Given the description of an element on the screen output the (x, y) to click on. 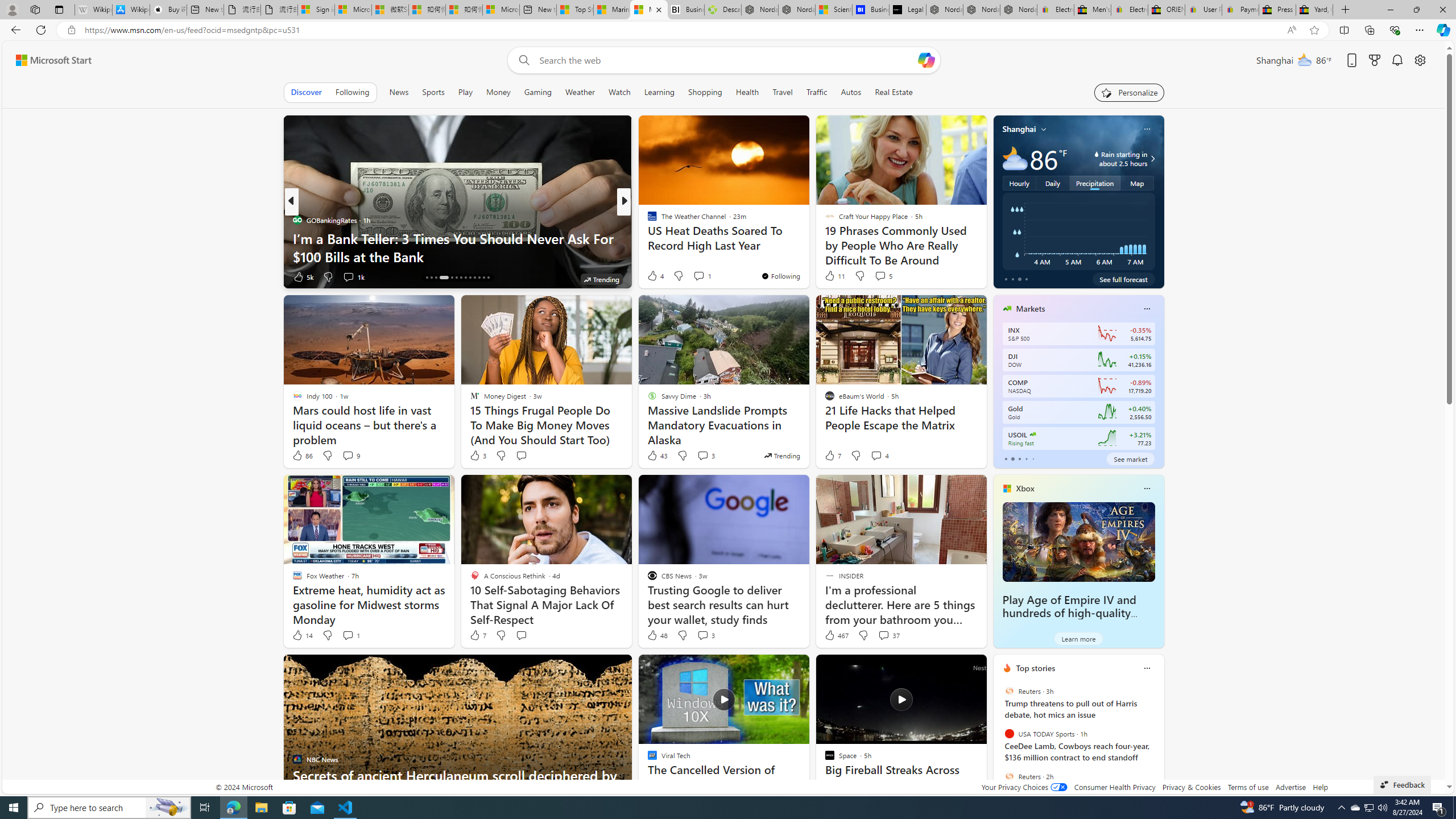
Buy iPad - Apple (168, 9)
14 Quiet Ways People Get Revenge (807, 256)
View comments 37 Comment (883, 635)
Electronics, Cars, Fashion, Collectibles & More | eBay (1129, 9)
BBC (647, 219)
Learning (658, 92)
311 Like (654, 276)
MSNBC (647, 219)
water-drop-icon Rain starting in about 2.5 hours (1110, 158)
